Given the description of an element on the screen output the (x, y) to click on. 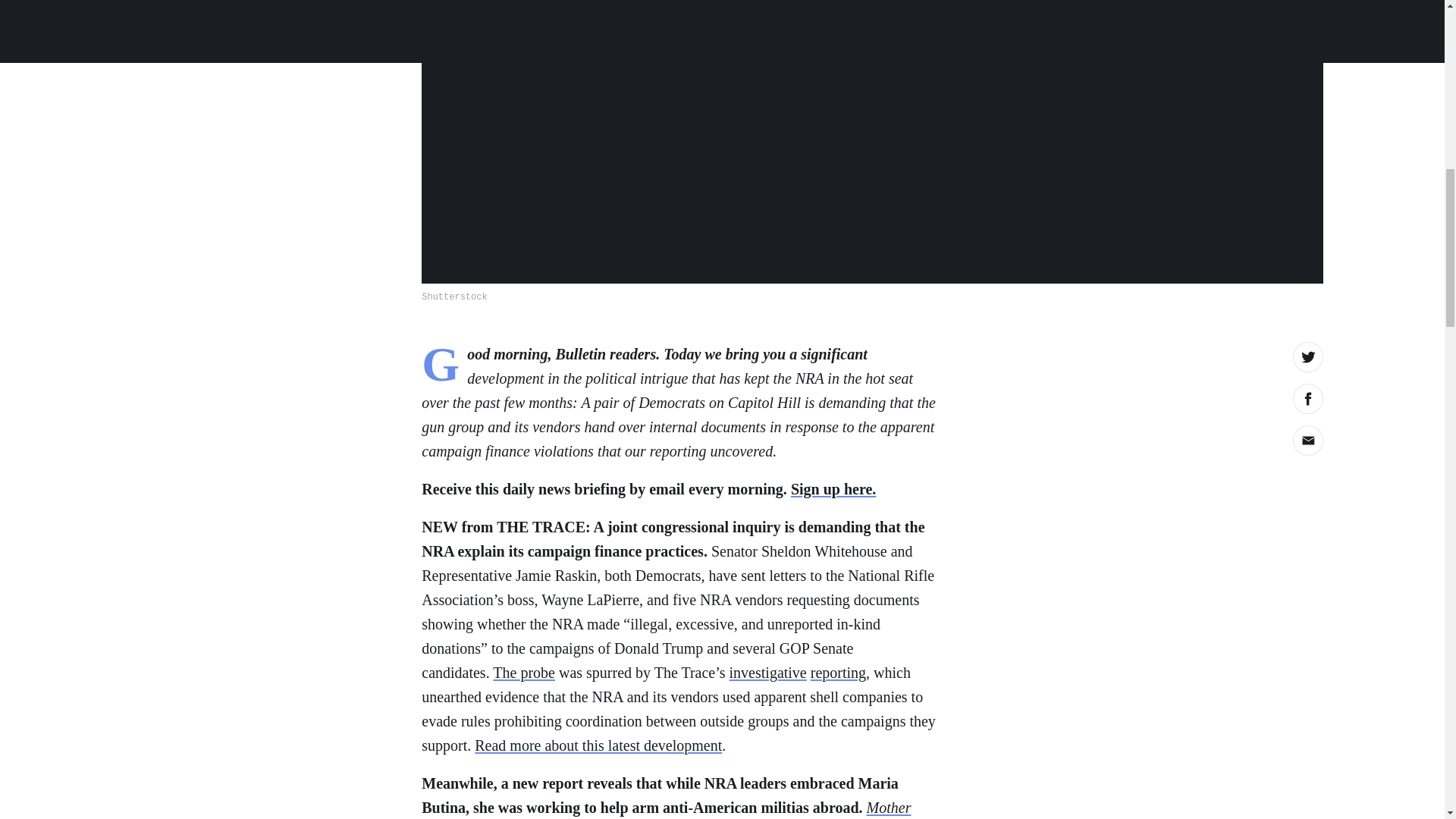
Sign up here. (833, 488)
Share on Twitter (1307, 357)
Email a link to this page (1307, 440)
Share on Facebook (1307, 399)
The probe (523, 672)
investigative (767, 672)
